Given the description of an element on the screen output the (x, y) to click on. 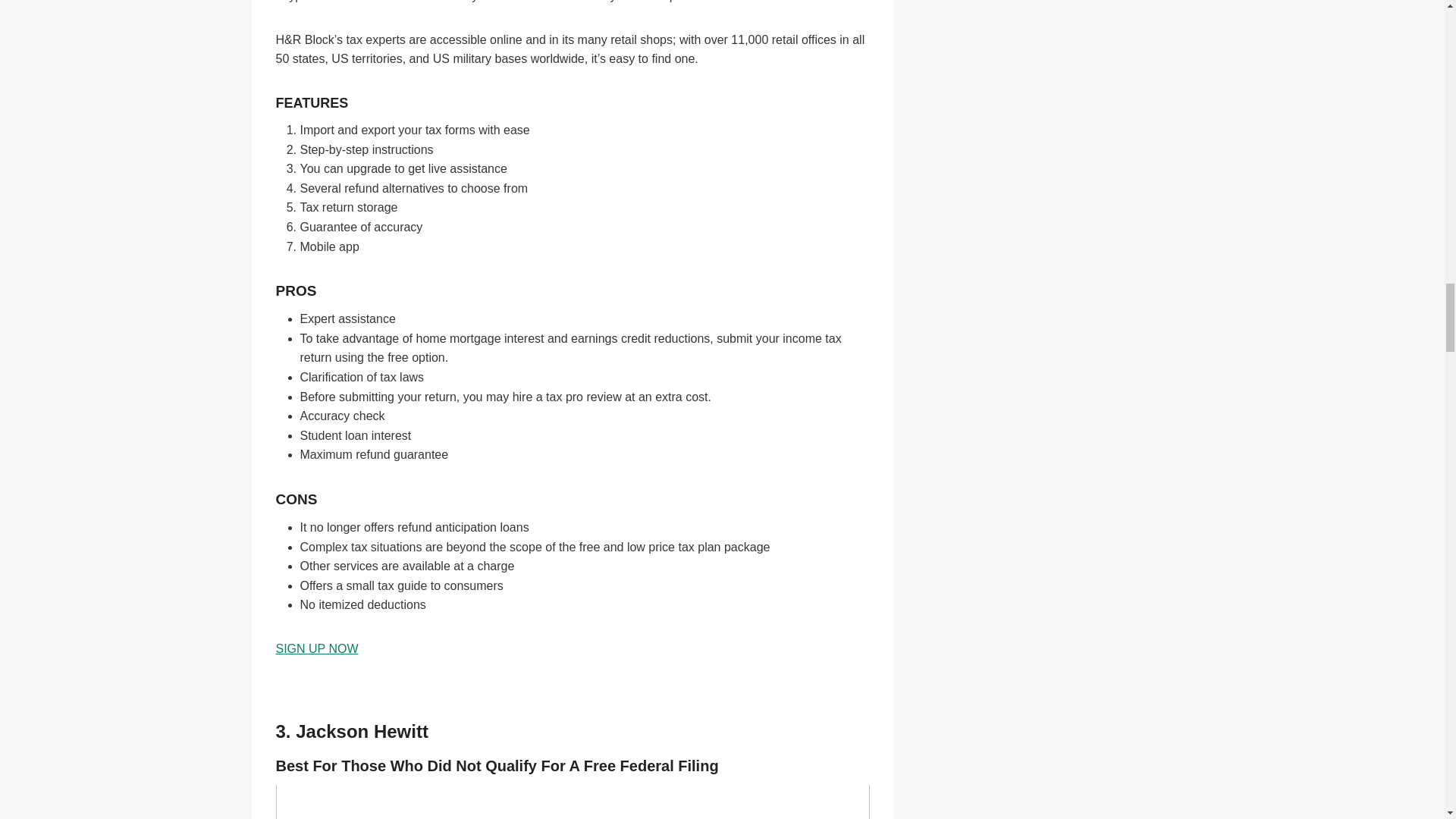
SIGN UP NOW (317, 648)
